Given the description of an element on the screen output the (x, y) to click on. 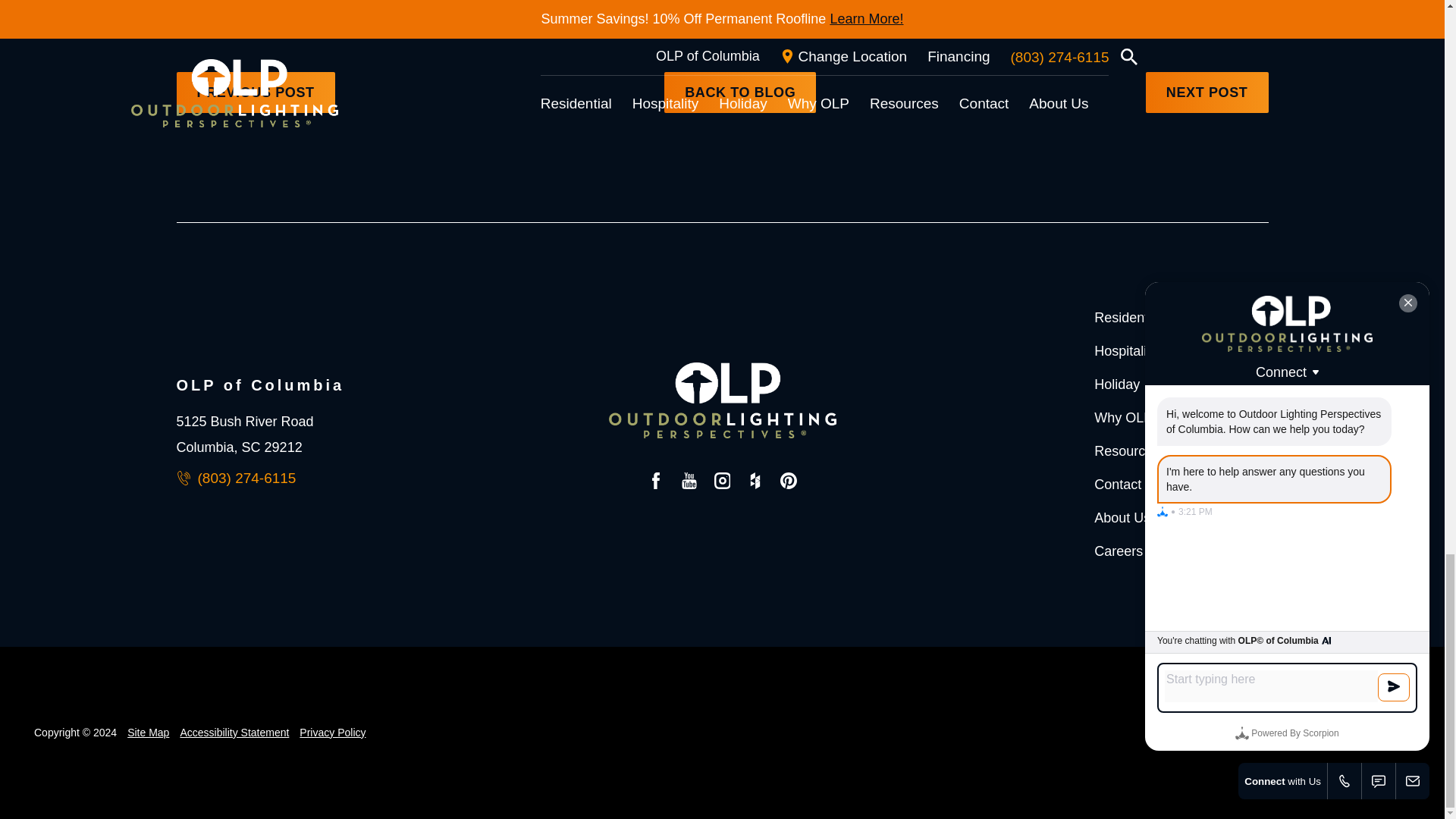
Outdoor Lighting Perspectives (721, 400)
youtube (689, 483)
facebook (655, 483)
instagram (722, 483)
pinterest (788, 483)
houzz (754, 483)
